Given the description of an element on the screen output the (x, y) to click on. 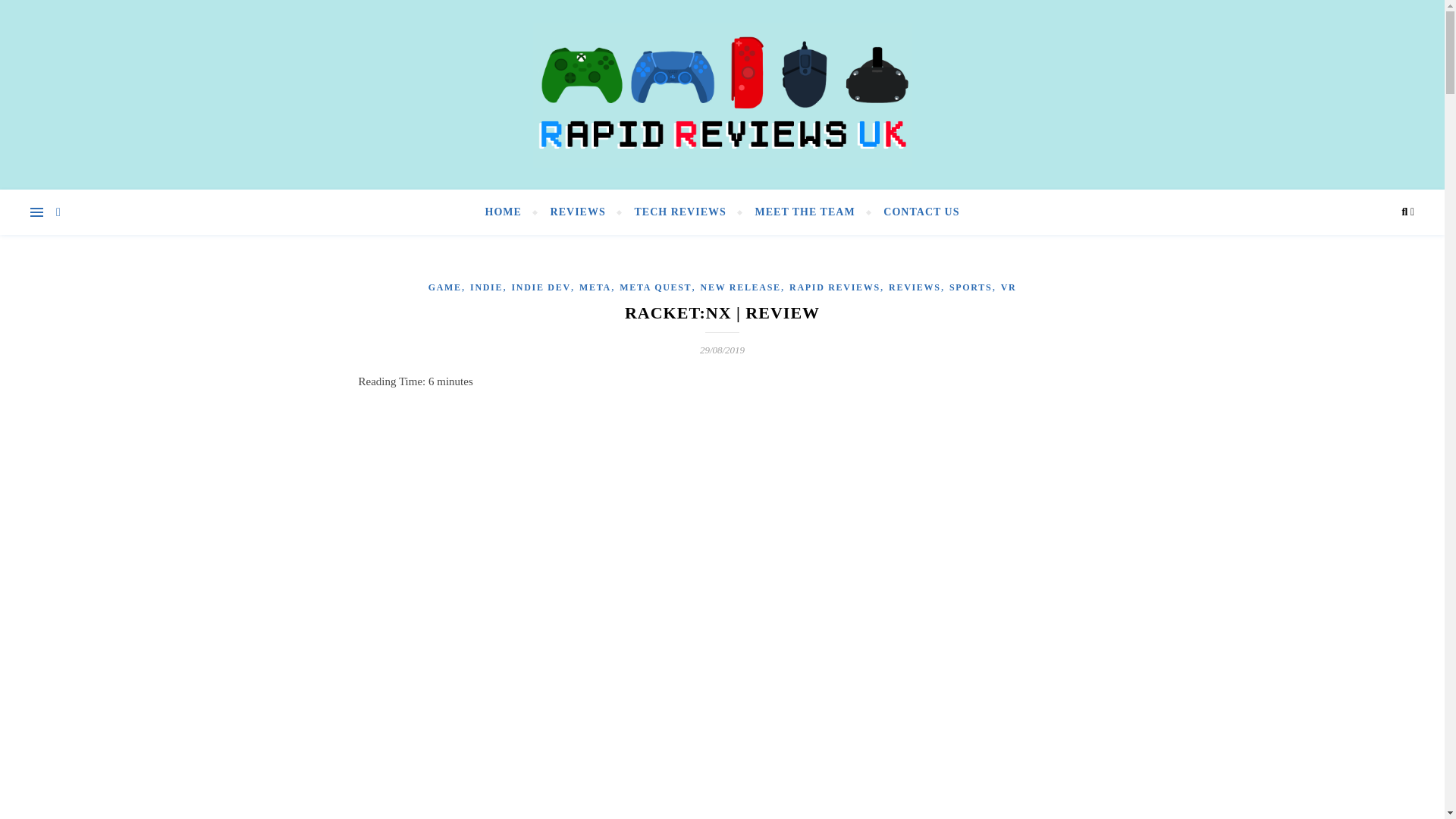
MEET THE TEAM (804, 212)
REVIEWS (577, 212)
Rapid Reviews UK (721, 95)
HOME (509, 212)
TECH REVIEWS (680, 212)
CONTACT US (914, 212)
